Given the description of an element on the screen output the (x, y) to click on. 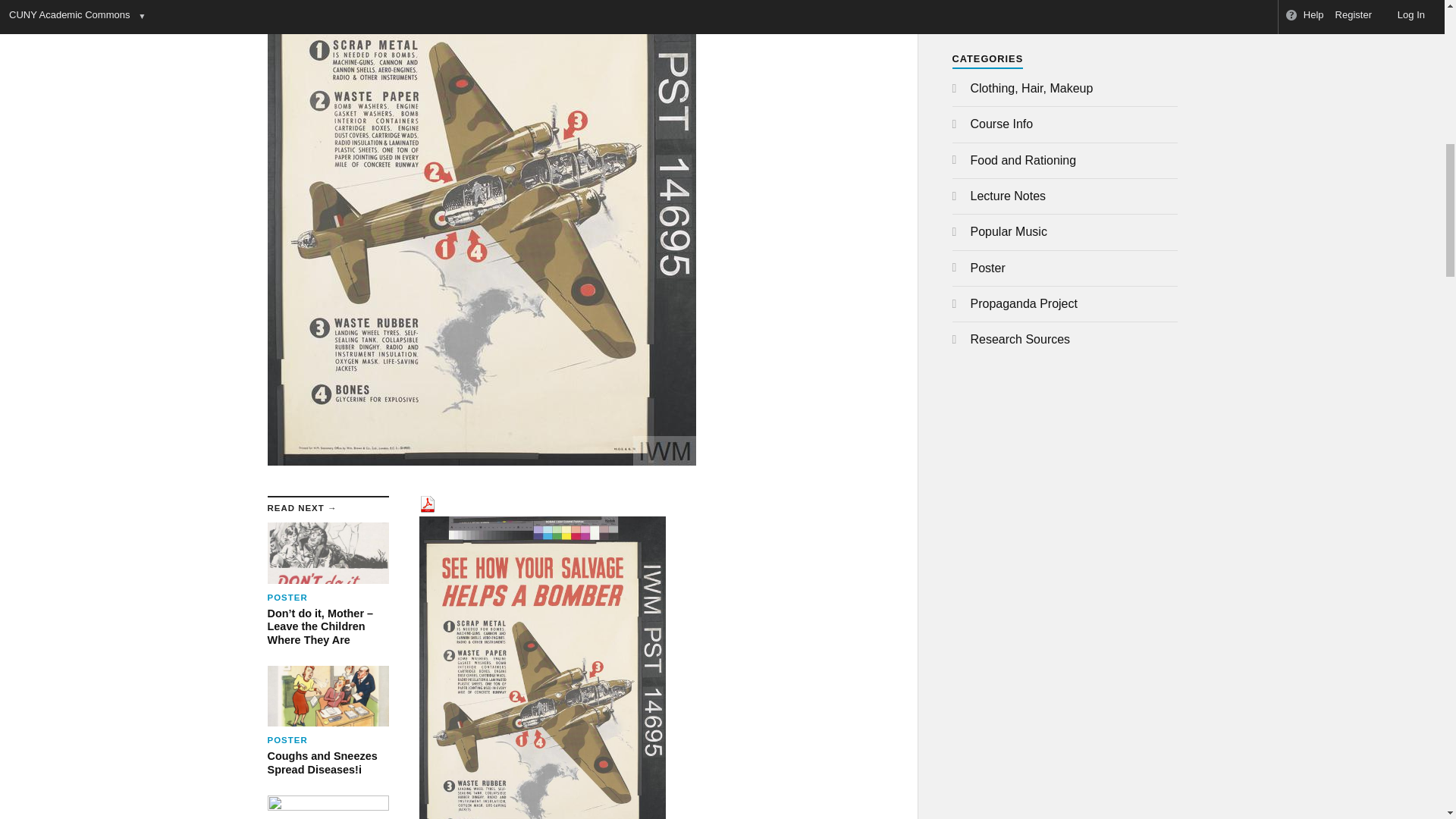
Download PDF (427, 508)
